Given the description of an element on the screen output the (x, y) to click on. 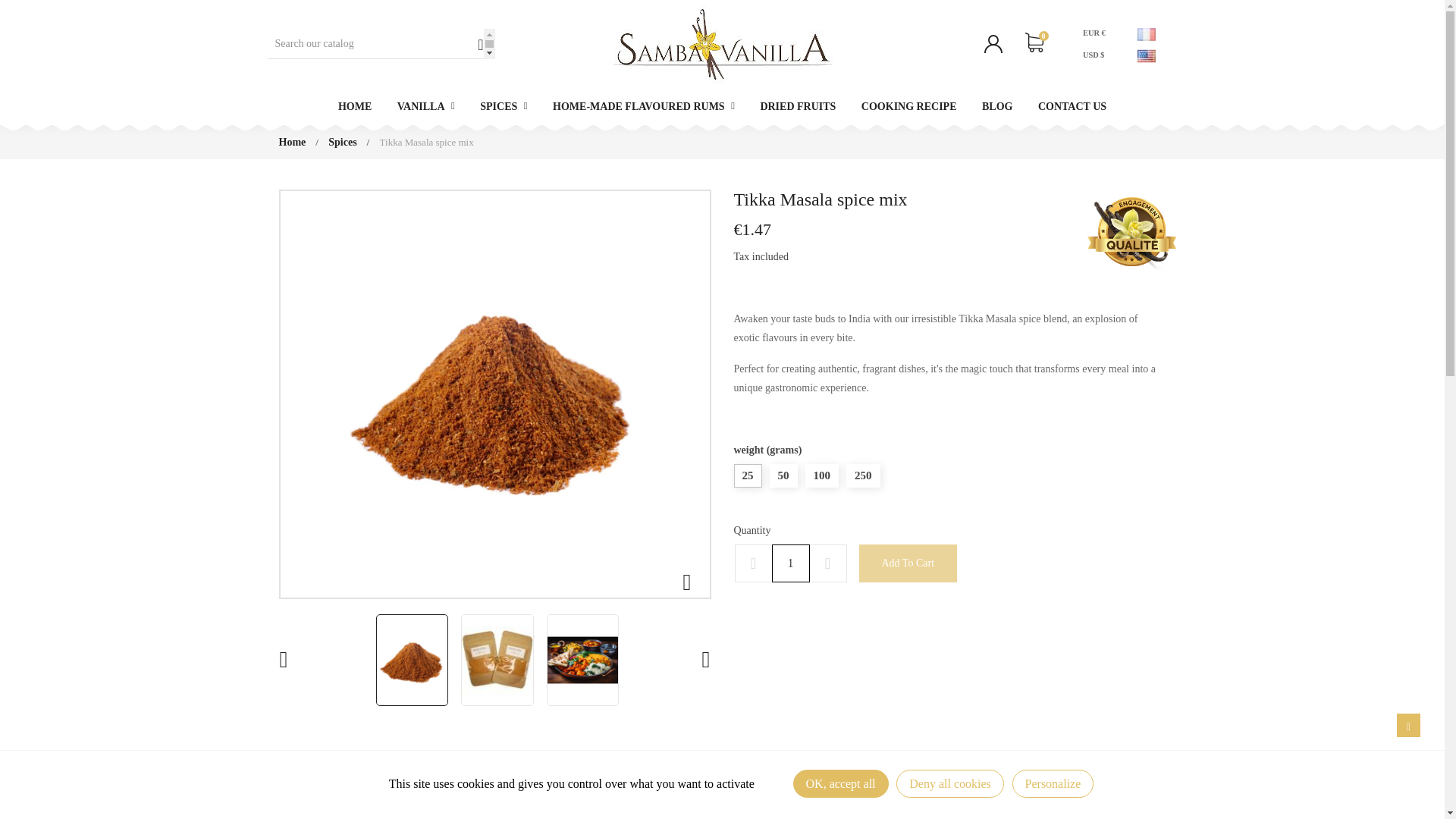
HOME (354, 105)
0 (1035, 43)
Euro (1096, 34)
VANILLA (425, 105)
1 (790, 563)
SPICES (503, 105)
DRIED FRUITS (797, 105)
HOME-MADE FLAVOURED RUMS (643, 105)
